Given the description of an element on the screen output the (x, y) to click on. 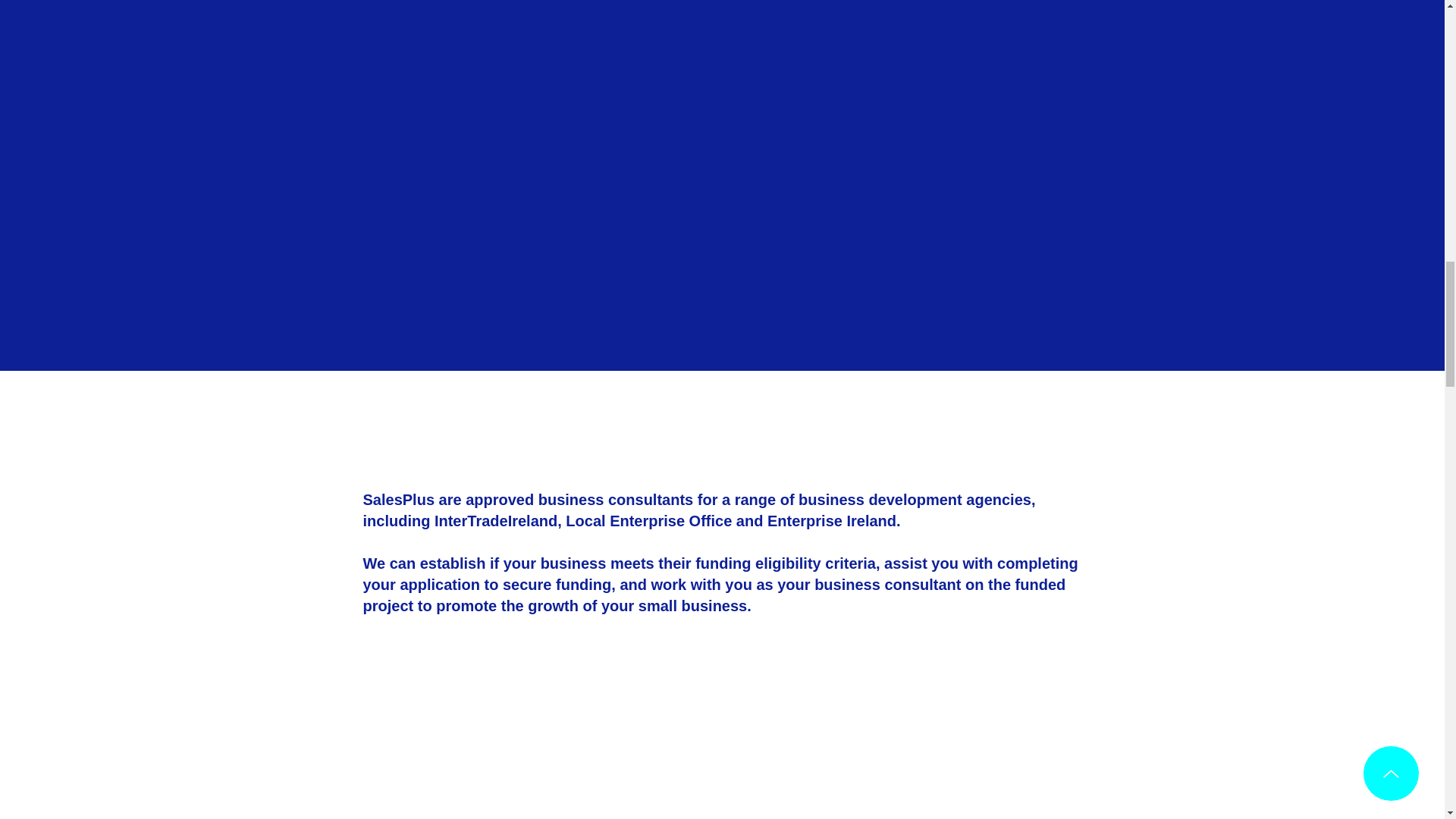
Local Enterprise Office (649, 520)
Enterprise Ireland (831, 520)
InterTradeIreland (495, 520)
